Given the description of an element on the screen output the (x, y) to click on. 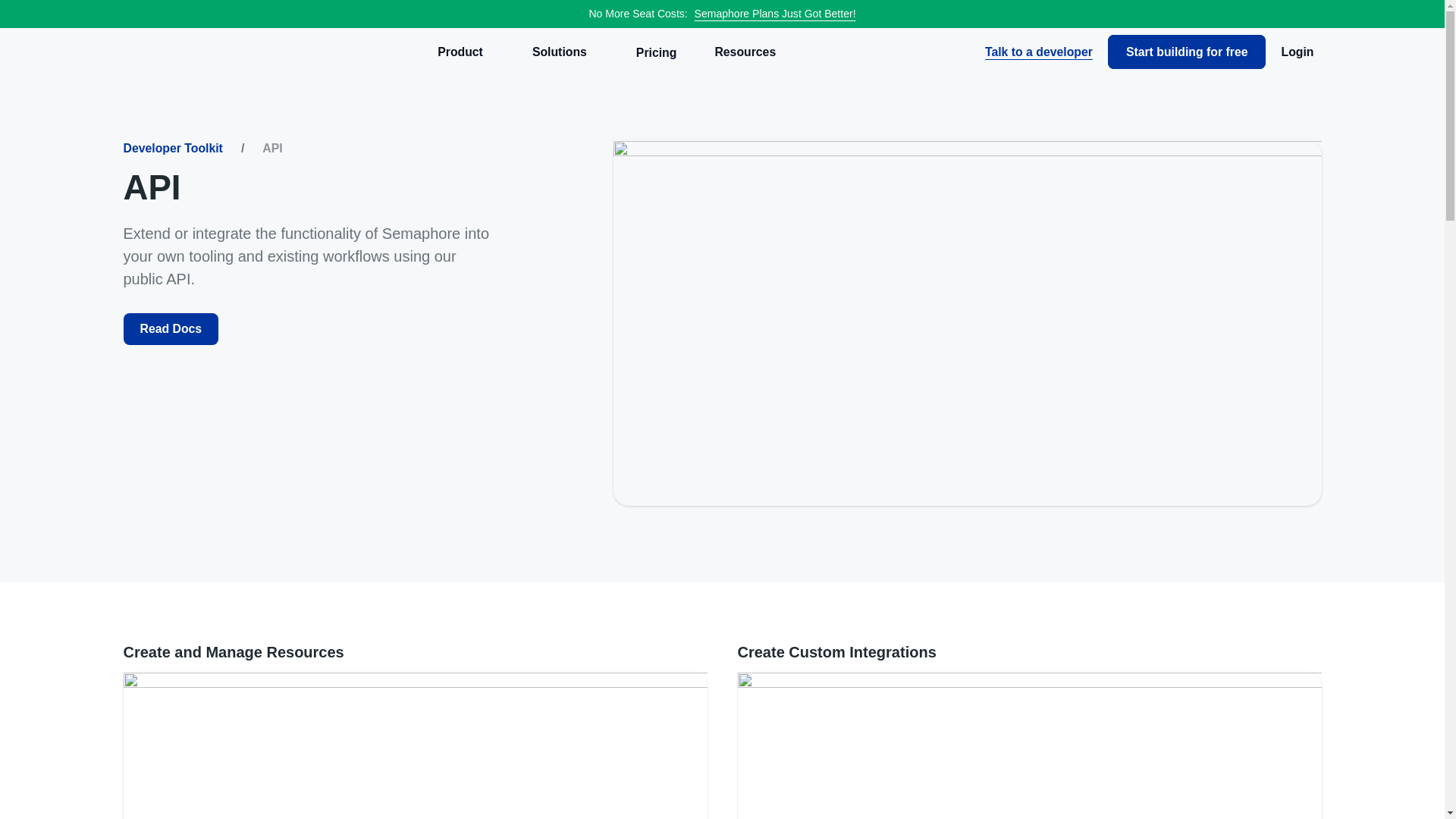
Pricing (656, 51)
Solutions (565, 51)
Semaphore Plans Just Got Better! (773, 13)
Semaphore (184, 51)
Resources (750, 51)
Product (466, 51)
